Given the description of an element on the screen output the (x, y) to click on. 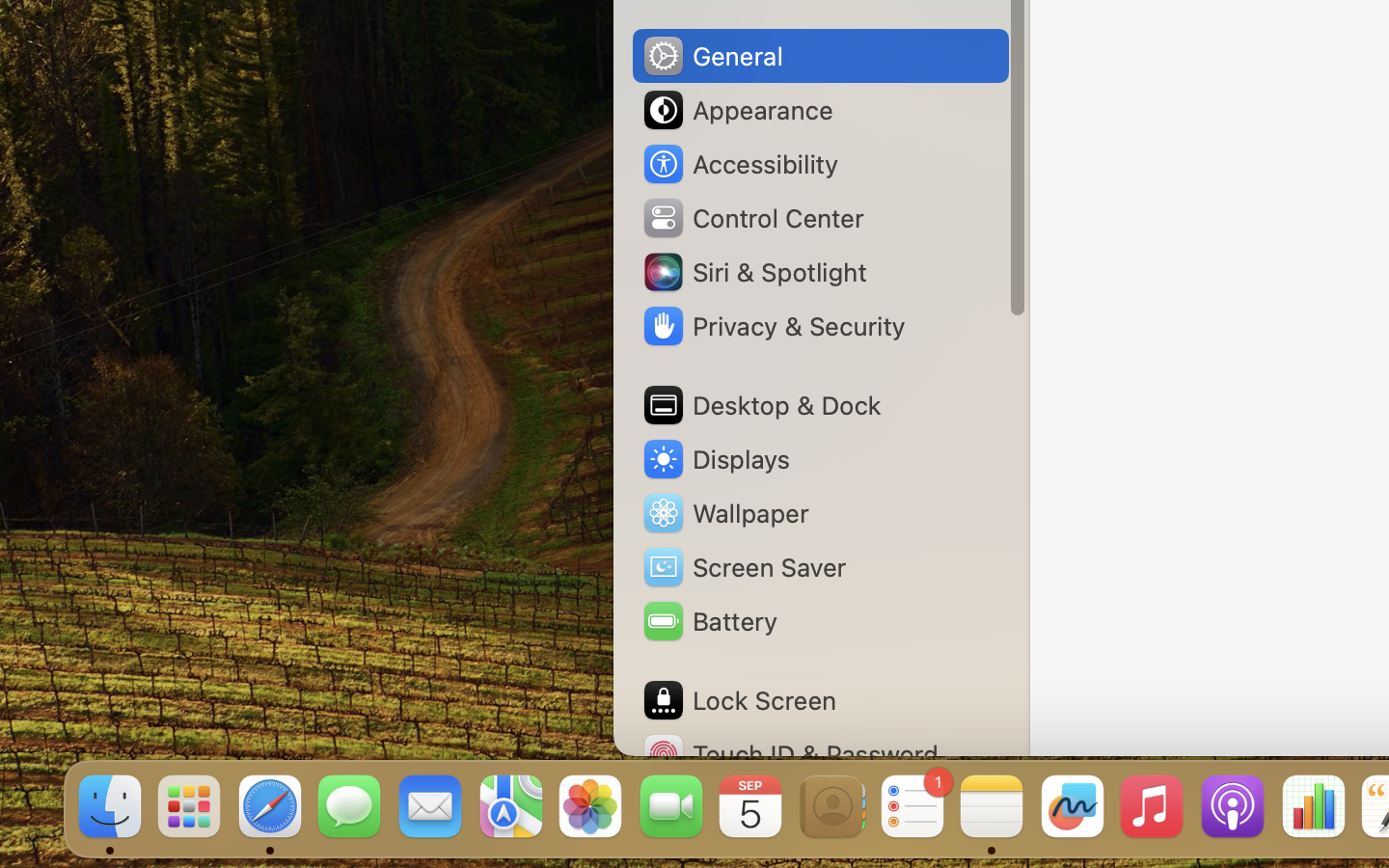
Siri & Spotlight Element type: AXStaticText (753, 271)
Control Center Element type: AXStaticText (752, 217)
Screen Saver Element type: AXStaticText (743, 566)
Accessibility Element type: AXStaticText (739, 163)
Wallpaper Element type: AXStaticText (724, 512)
